Given the description of an element on the screen output the (x, y) to click on. 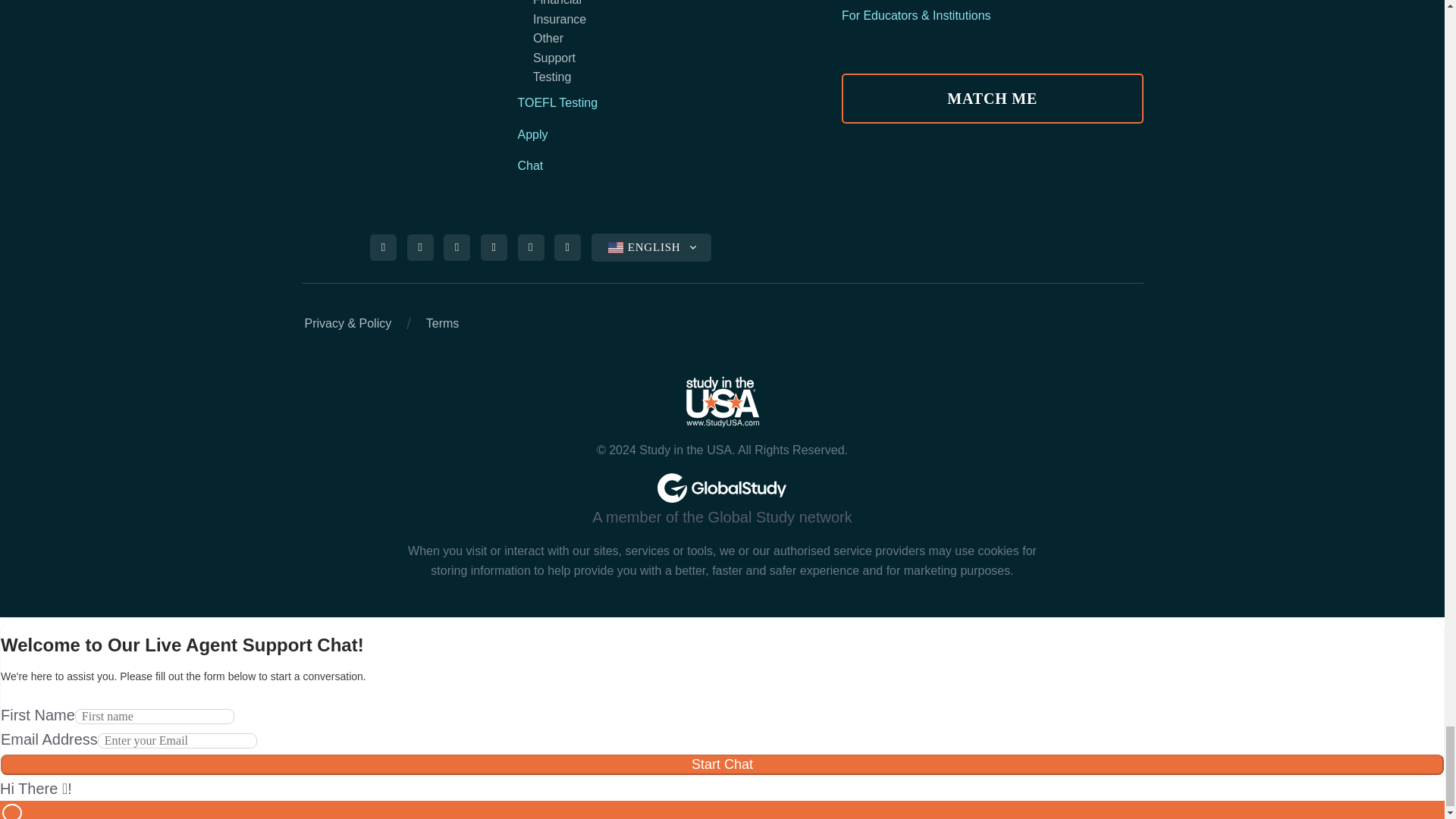
Facebook Icon (383, 247)
TikTok Icon (494, 247)
Youtube Icon (568, 247)
Instagram Icon (419, 247)
Twitter Icon (530, 247)
Pinterest Icon (457, 247)
